Given the description of an element on the screen output the (x, y) to click on. 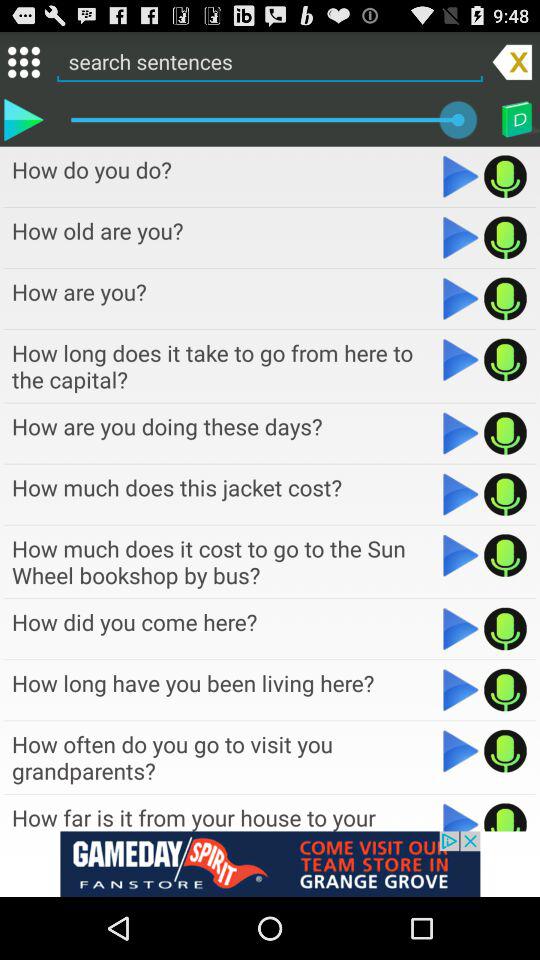
go to sp (505, 176)
